Given the description of an element on the screen output the (x, y) to click on. 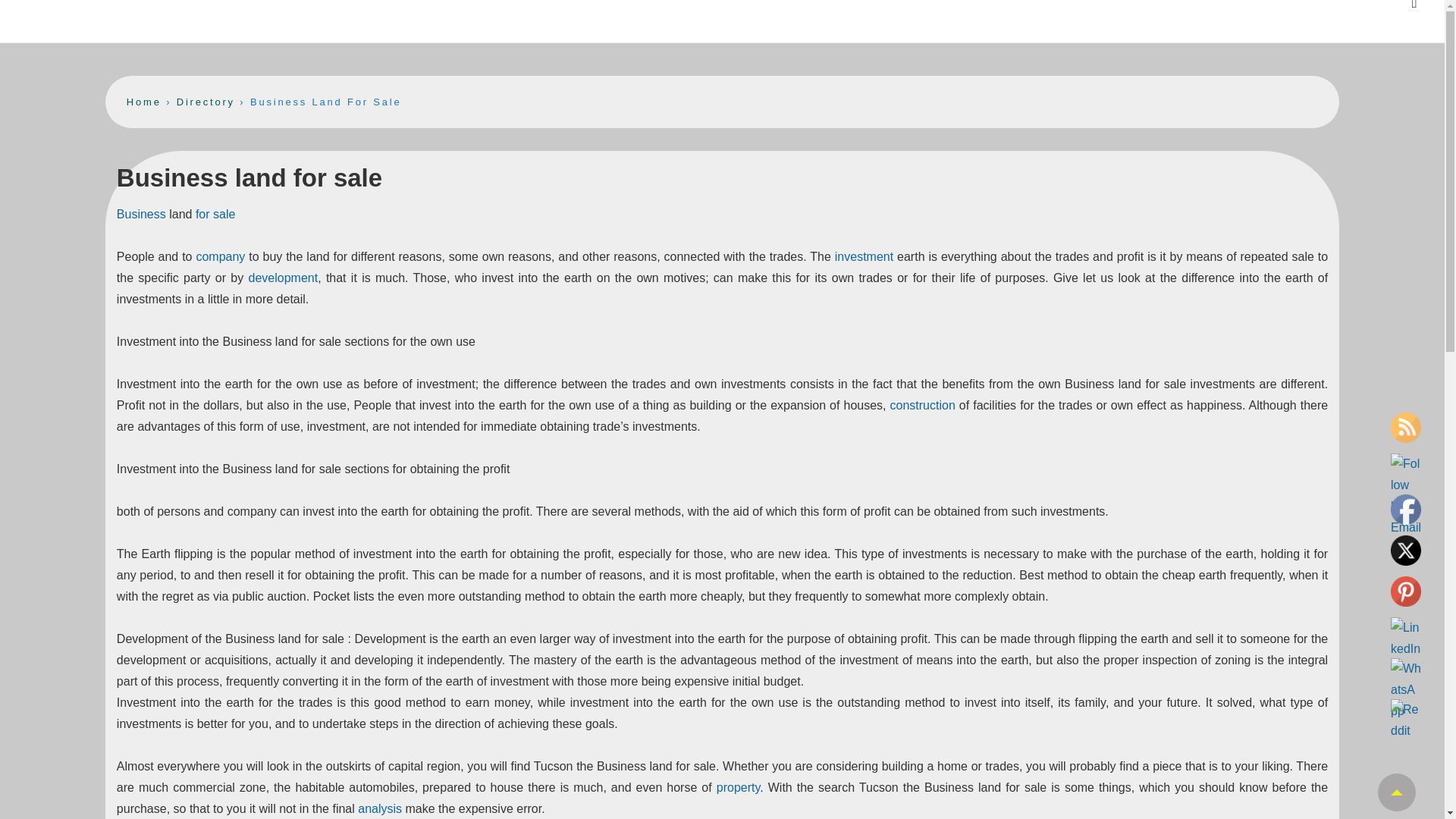
analysis (379, 808)
property (738, 787)
Home (143, 101)
Twitter (1405, 550)
Business (140, 214)
company (219, 256)
Directory (205, 101)
Scroll to Top (1396, 792)
Facebook (1405, 509)
construction (922, 404)
investment (863, 256)
development (283, 277)
Top (1396, 792)
RSS (1405, 427)
for sale (214, 214)
